Given the description of an element on the screen output the (x, y) to click on. 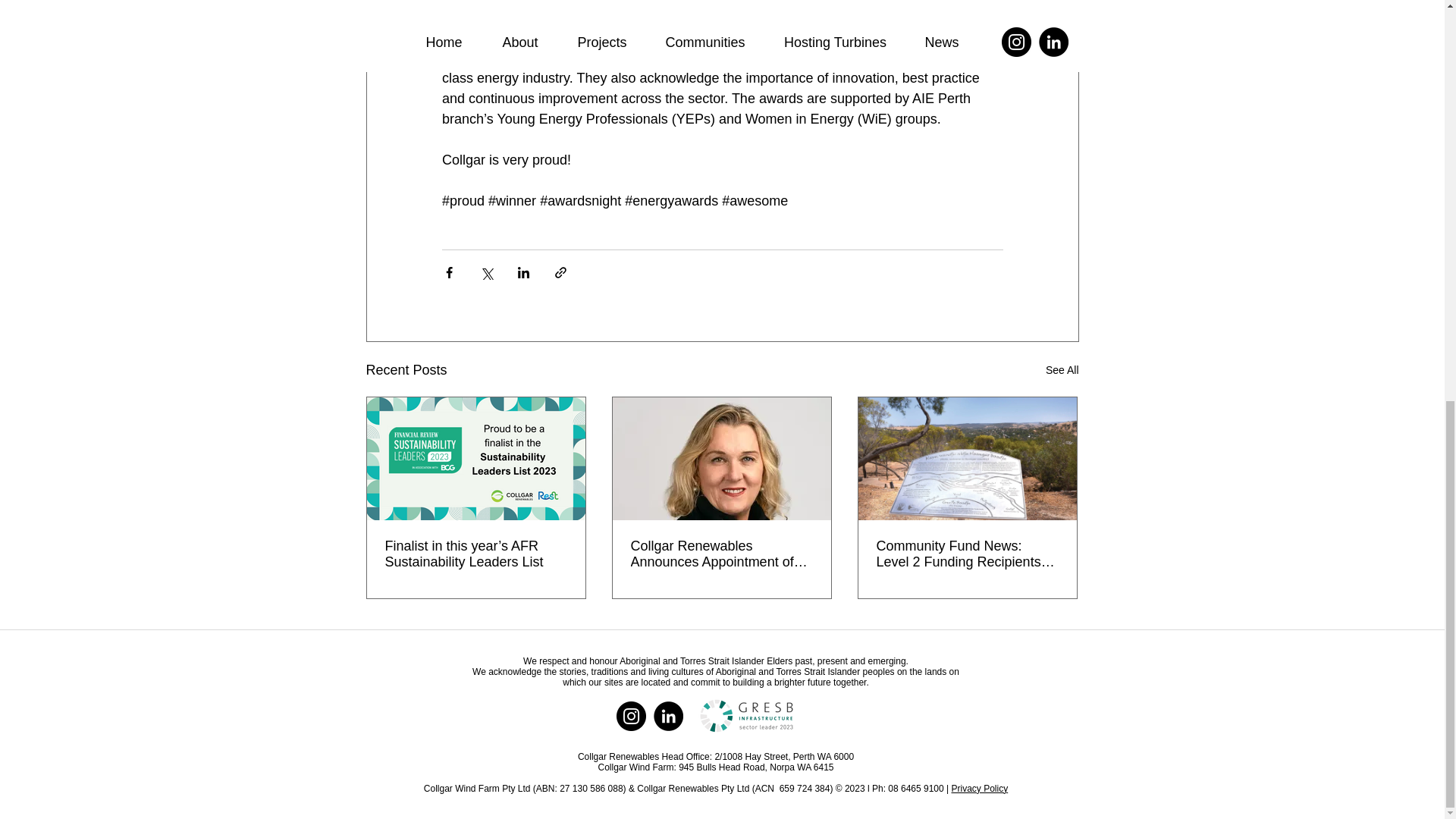
Privacy Policy (978, 787)
See All (1061, 370)
